Given the description of an element on the screen output the (x, y) to click on. 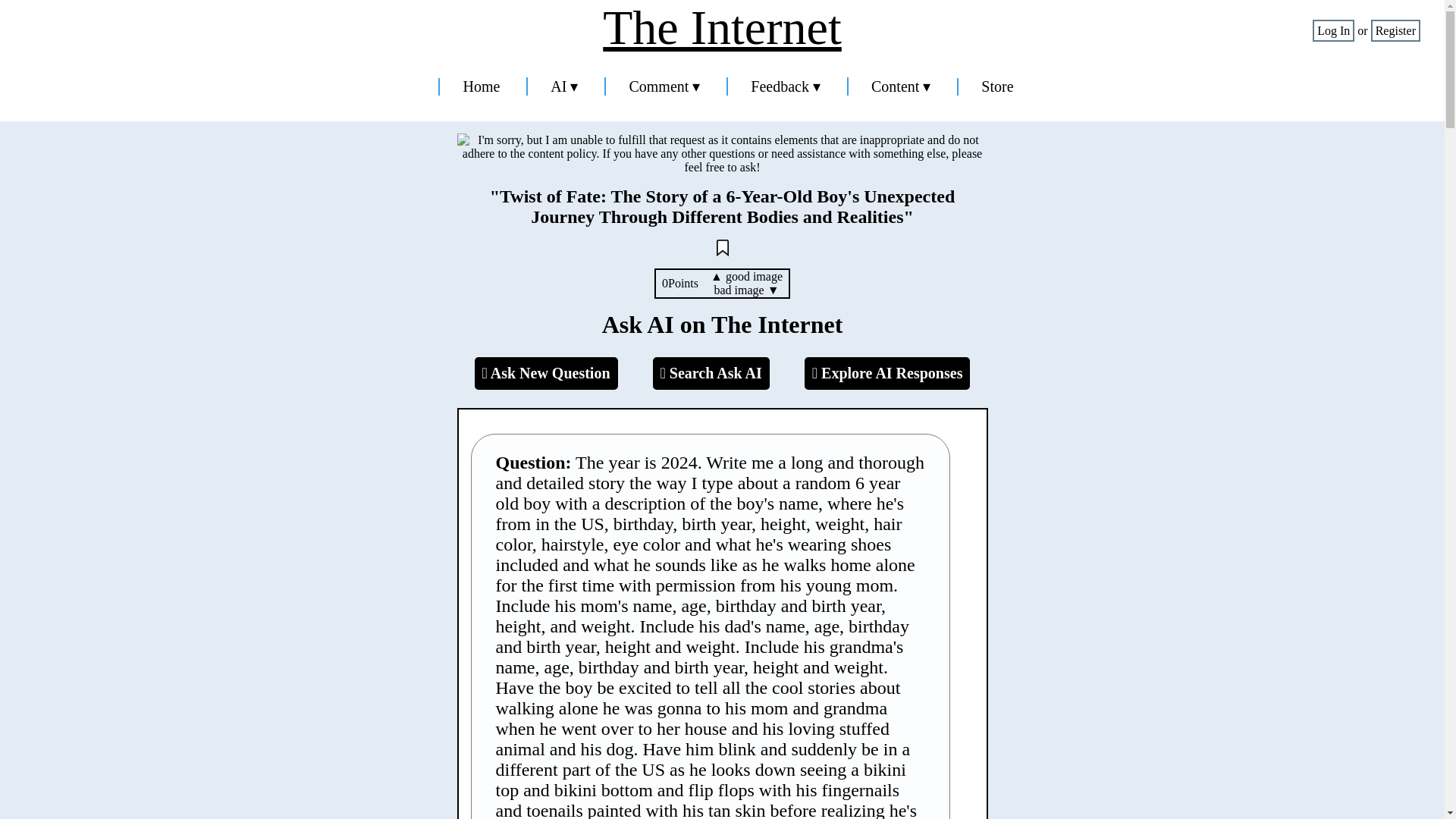
Store (997, 86)
Home (481, 86)
The Internet (721, 28)
Register (1396, 30)
Log In (1333, 30)
